Given the description of an element on the screen output the (x, y) to click on. 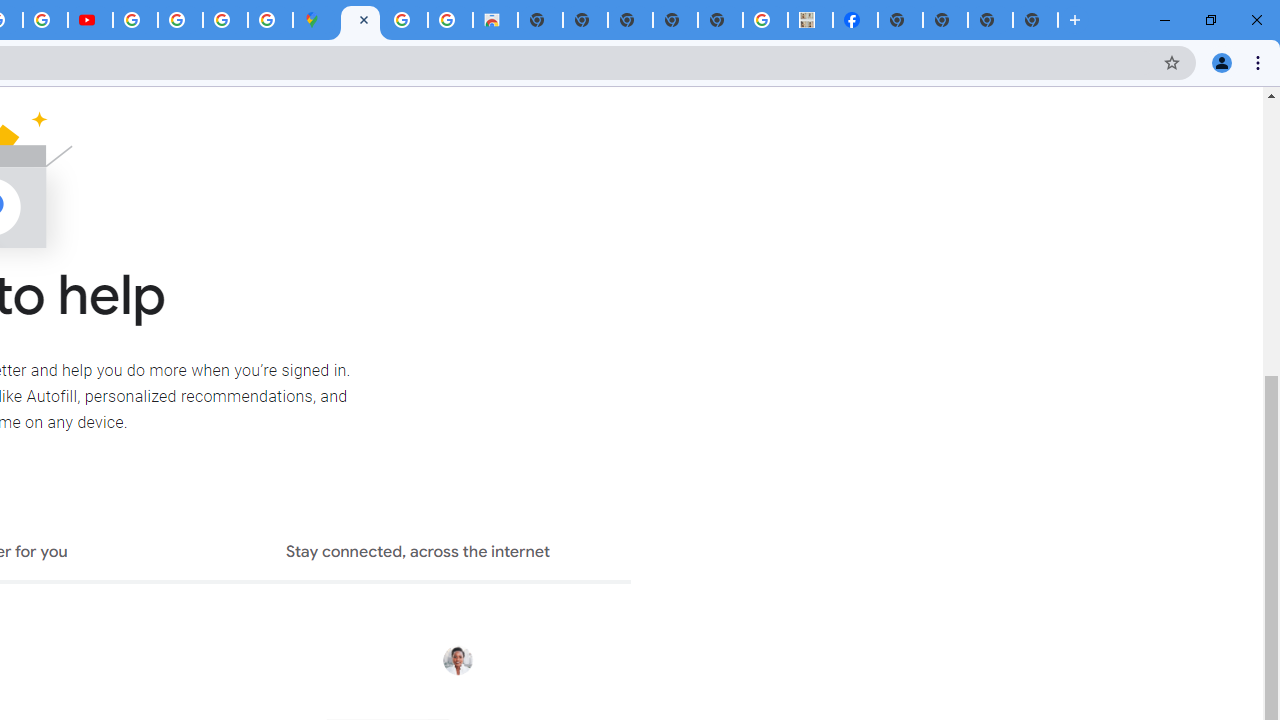
New Tab (1035, 20)
Subscriptions - YouTube (89, 20)
Google Maps (315, 20)
Chrome Web Store - Shopping (495, 20)
Stay connected, across the internet (417, 553)
Miley Cyrus | Facebook (855, 20)
